Given the description of an element on the screen output the (x, y) to click on. 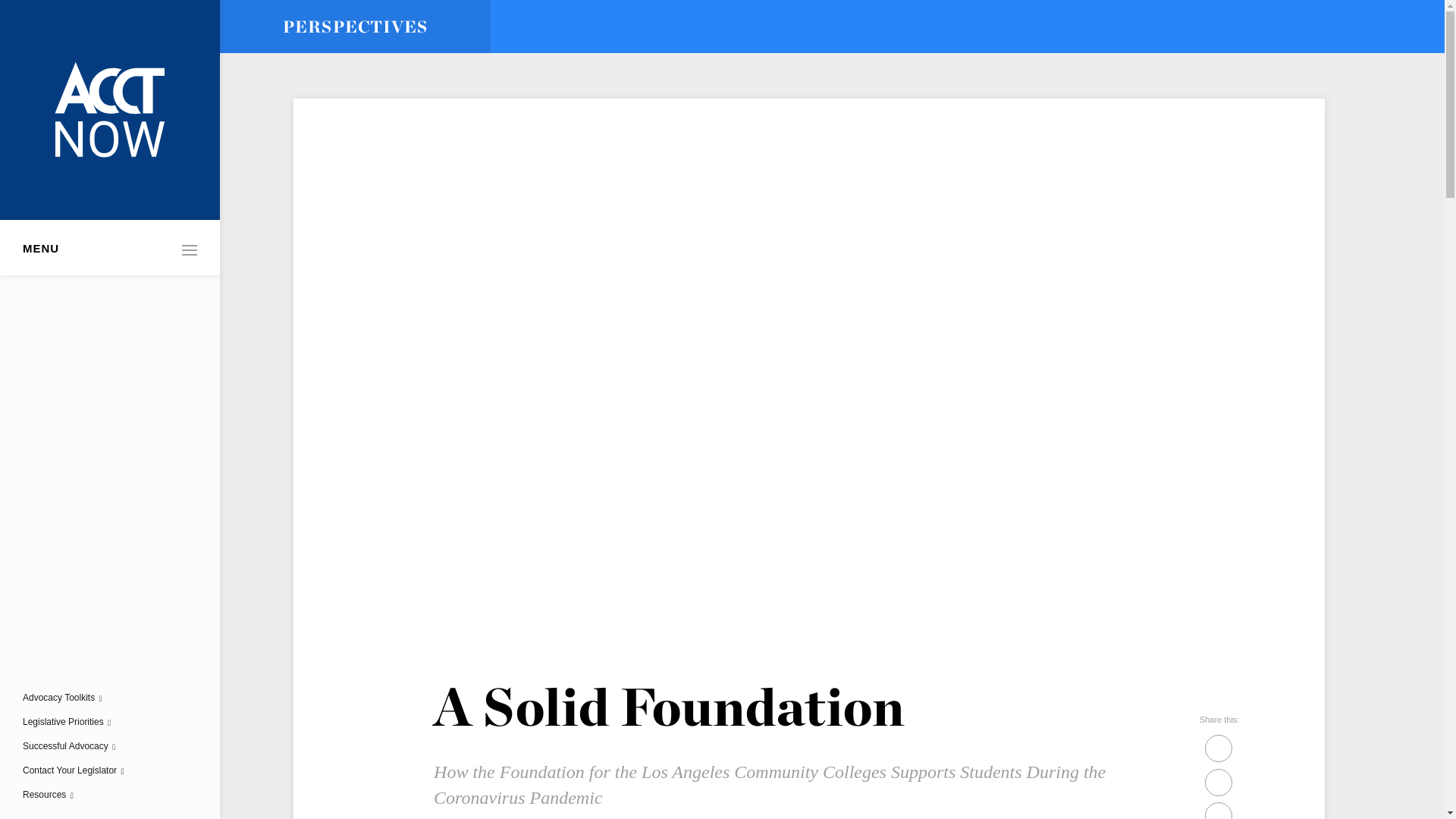
Contact Your Legislator (69, 769)
Resources (44, 794)
Share on Facebook (1218, 781)
Advocacy Toolkits (58, 697)
Share on Linkedin (1218, 814)
Share on Twitter (1218, 747)
Legislative Priorities (63, 721)
MENU (109, 247)
Successful Advocacy (65, 746)
